Given the description of an element on the screen output the (x, y) to click on. 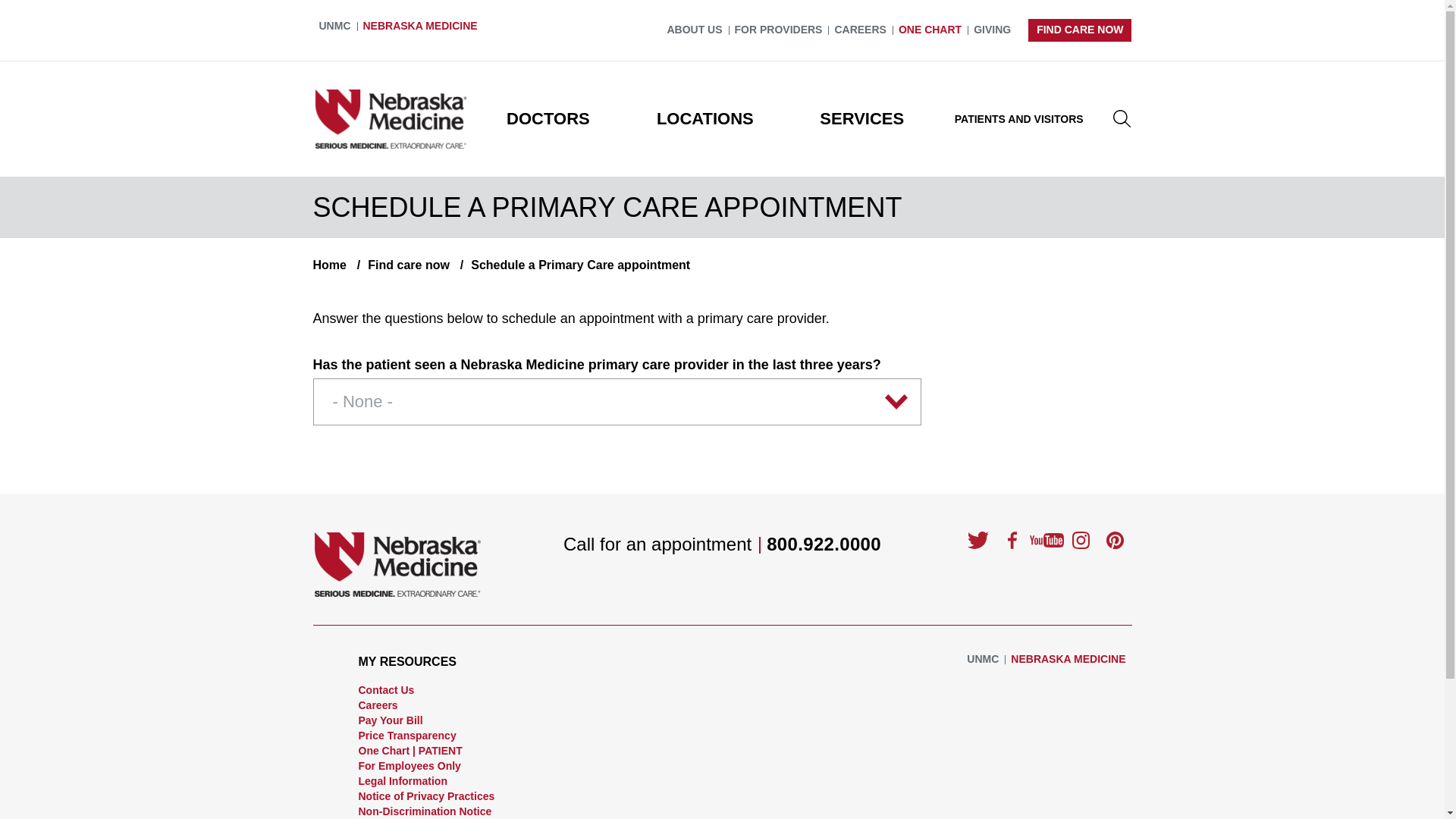
Jobs (859, 29)
ABOUT US (694, 29)
GIVING (992, 29)
Schedule a Primary Care appointment (571, 264)
SERVICES (861, 118)
Home (329, 264)
SEARCH (1121, 117)
CAREERS (859, 29)
LOCATIONS (704, 118)
FIND CARE NOW (1079, 29)
FOR PROVIDERS (778, 29)
Find care now (399, 264)
PATIENTS AND VISITORS (1018, 118)
